Given the description of an element on the screen output the (x, y) to click on. 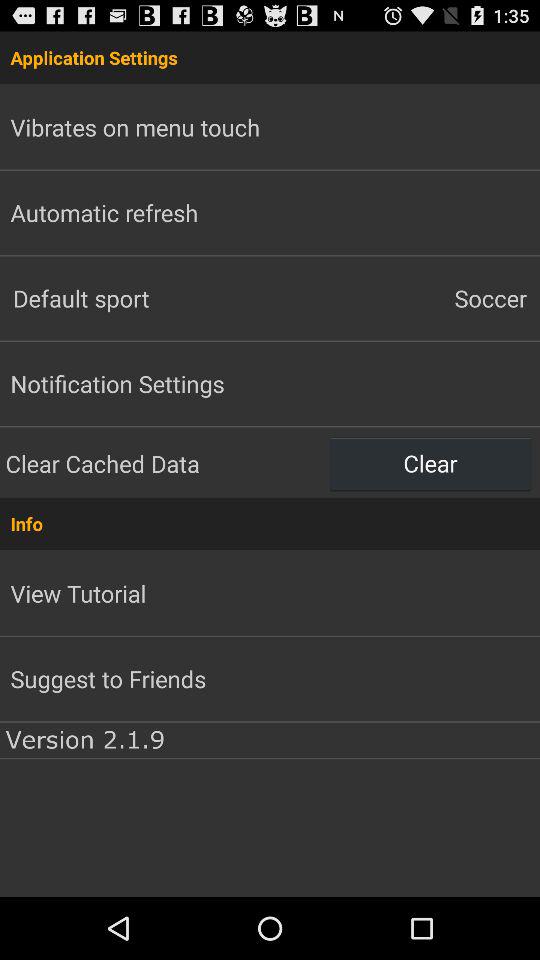
jump until the suggest to friends icon (108, 678)
